Given the description of an element on the screen output the (x, y) to click on. 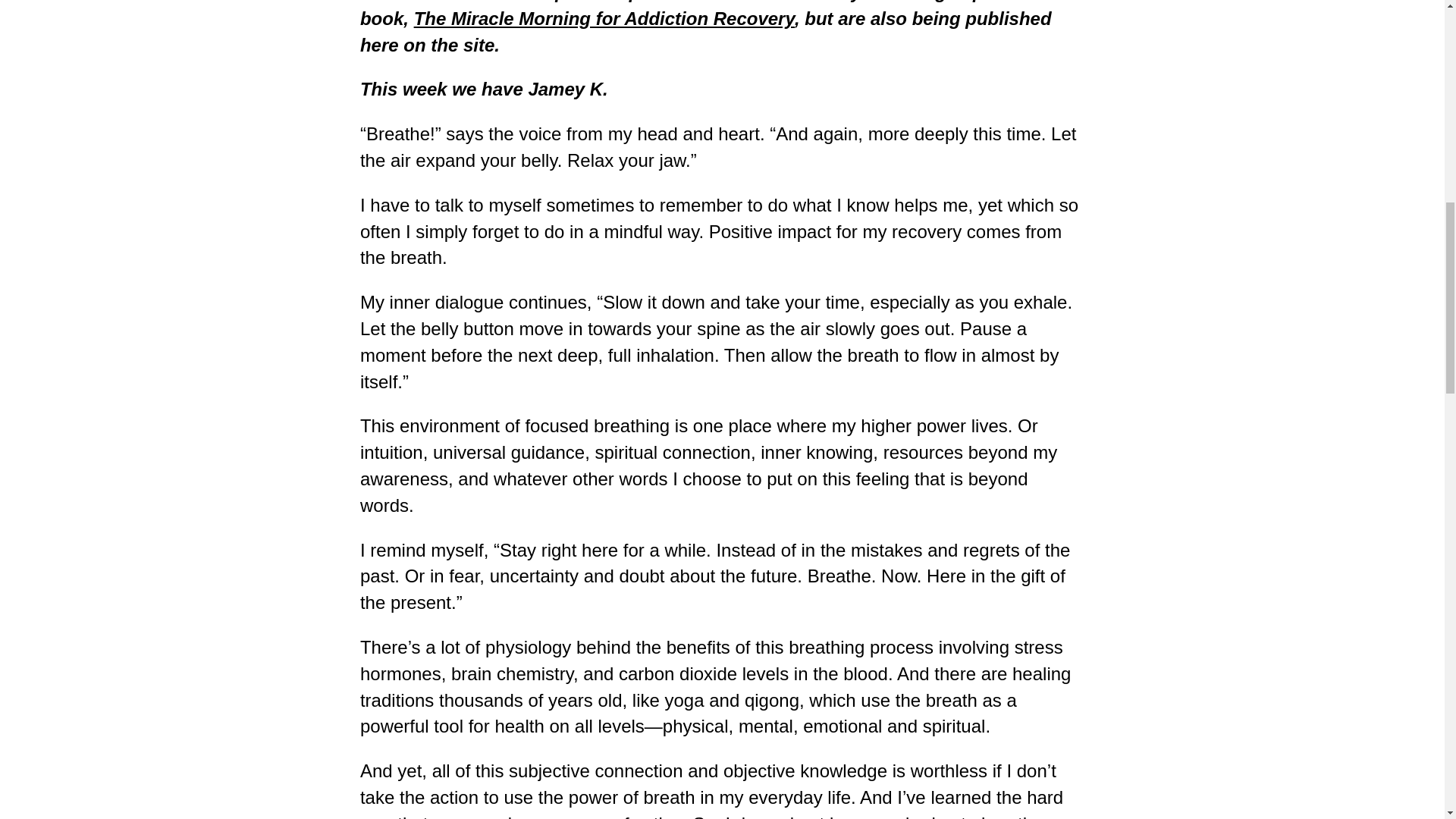
The Miracle Morning for Addiction Recovery (603, 18)
